Given the description of an element on the screen output the (x, y) to click on. 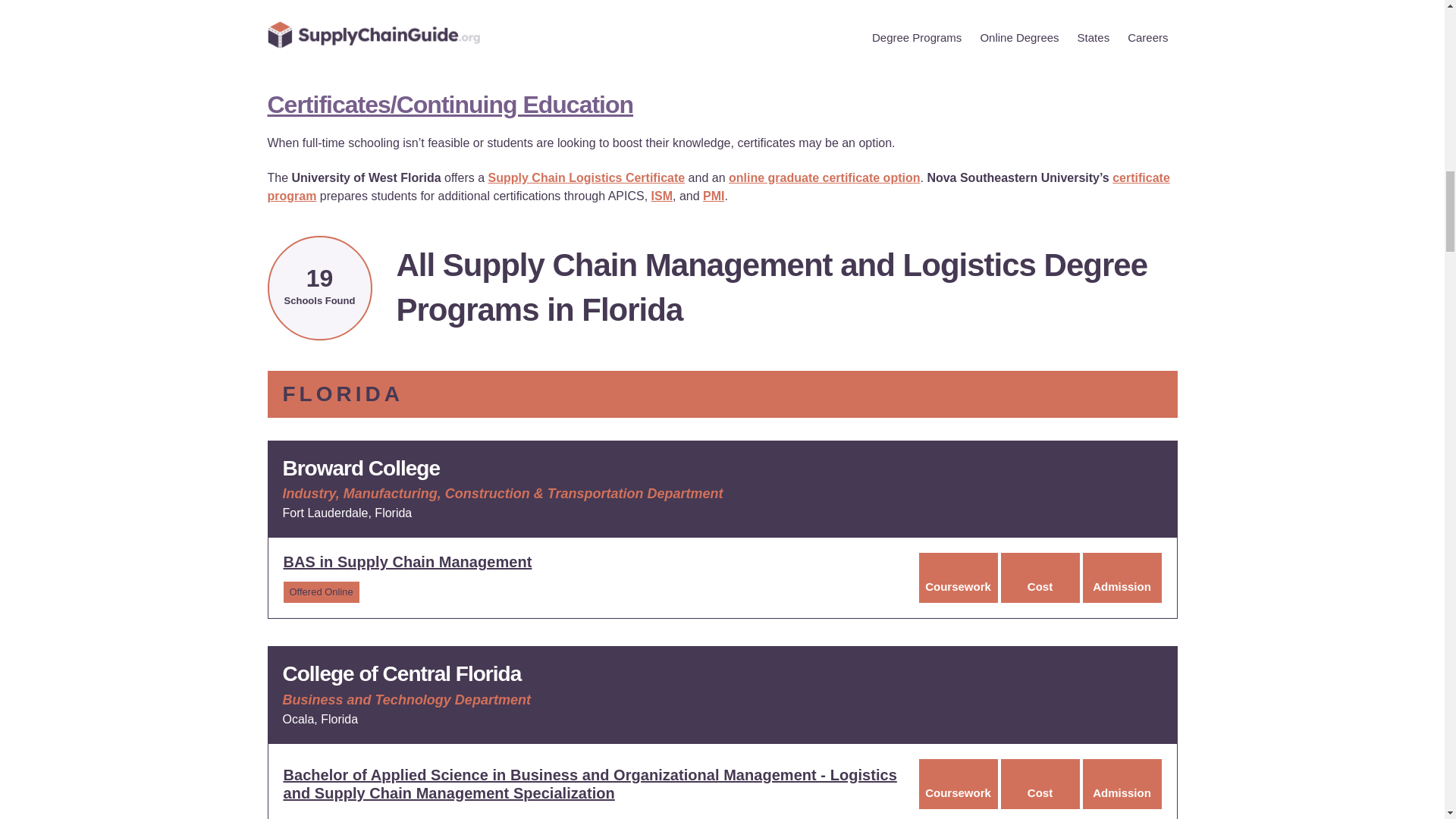
program admissions (1122, 784)
program cost (1040, 577)
Click here to visit the program home page (589, 783)
program admissions (1122, 577)
Click here to visit the program home page (407, 561)
program curriculum (957, 577)
program cost (1040, 784)
program curriculum (957, 784)
